Given the description of an element on the screen output the (x, y) to click on. 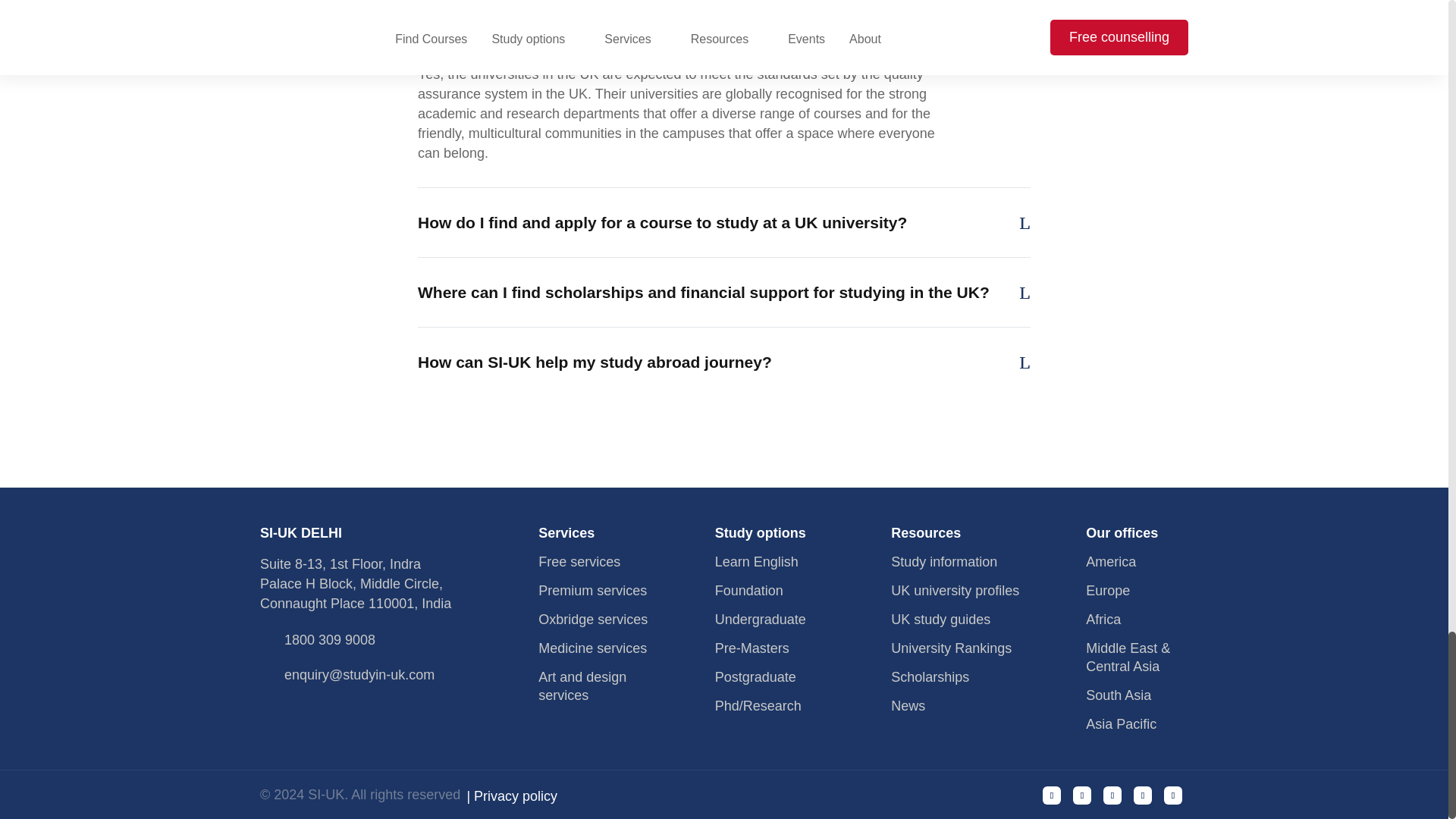
Follow on X (1142, 795)
Follow on Facebook (1051, 795)
Follow on LinkedIn (1172, 795)
Follow on Youtube (1112, 795)
Follow on Instagram (1081, 795)
